Given the description of an element on the screen output the (x, y) to click on. 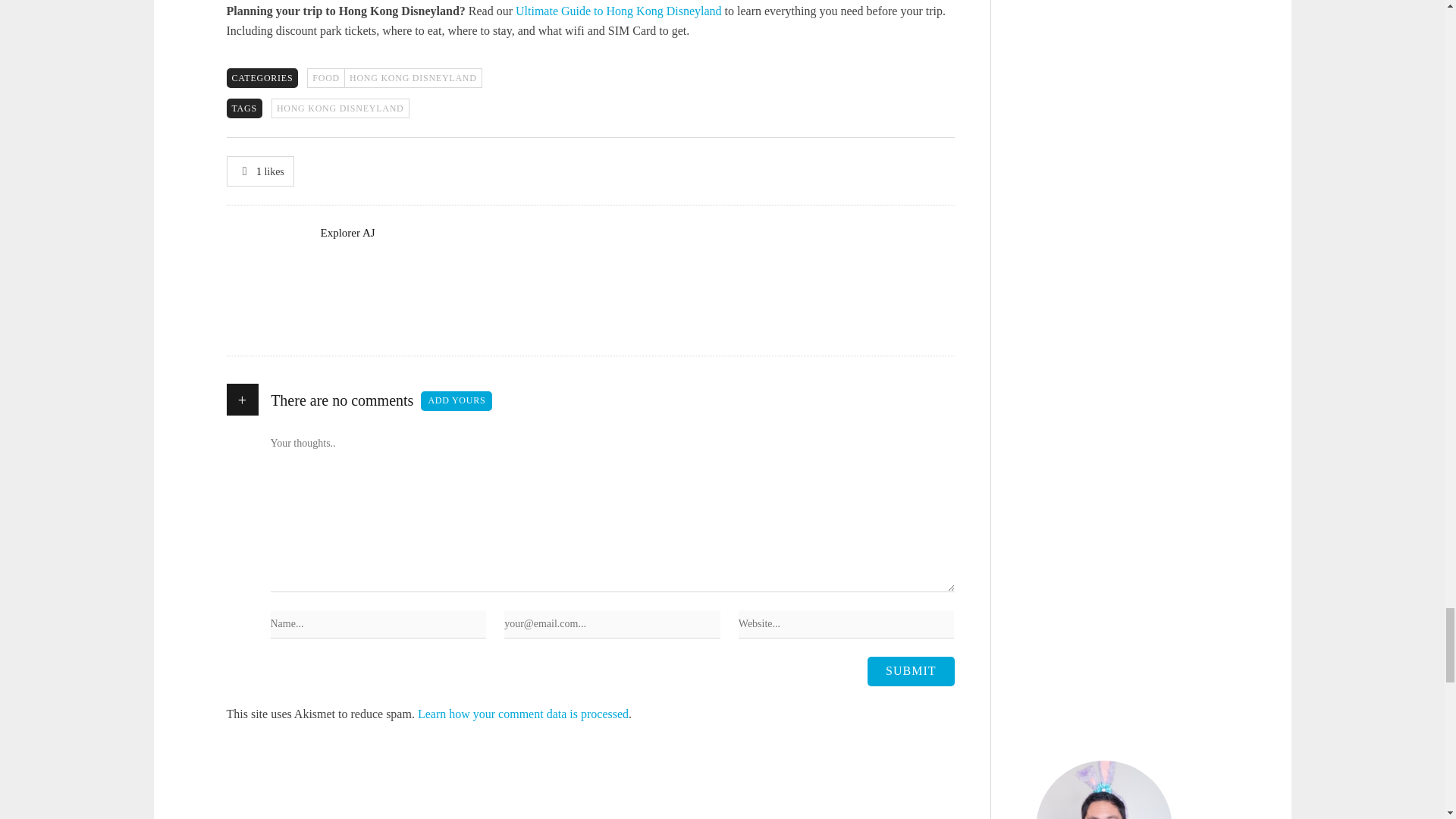
Learn how your comment data is processed (522, 713)
View all posts tagged Hong Kong Disneyland (339, 107)
View all posts in Food (325, 77)
FOOD (325, 77)
Submit (910, 670)
HONG KONG DISNEYLAND (339, 107)
View all posts in Hong Kong Disneyland (412, 77)
Posts by Explorer AJ (347, 232)
Submit (910, 670)
Explorer AJ (347, 232)
